Given the description of an element on the screen output the (x, y) to click on. 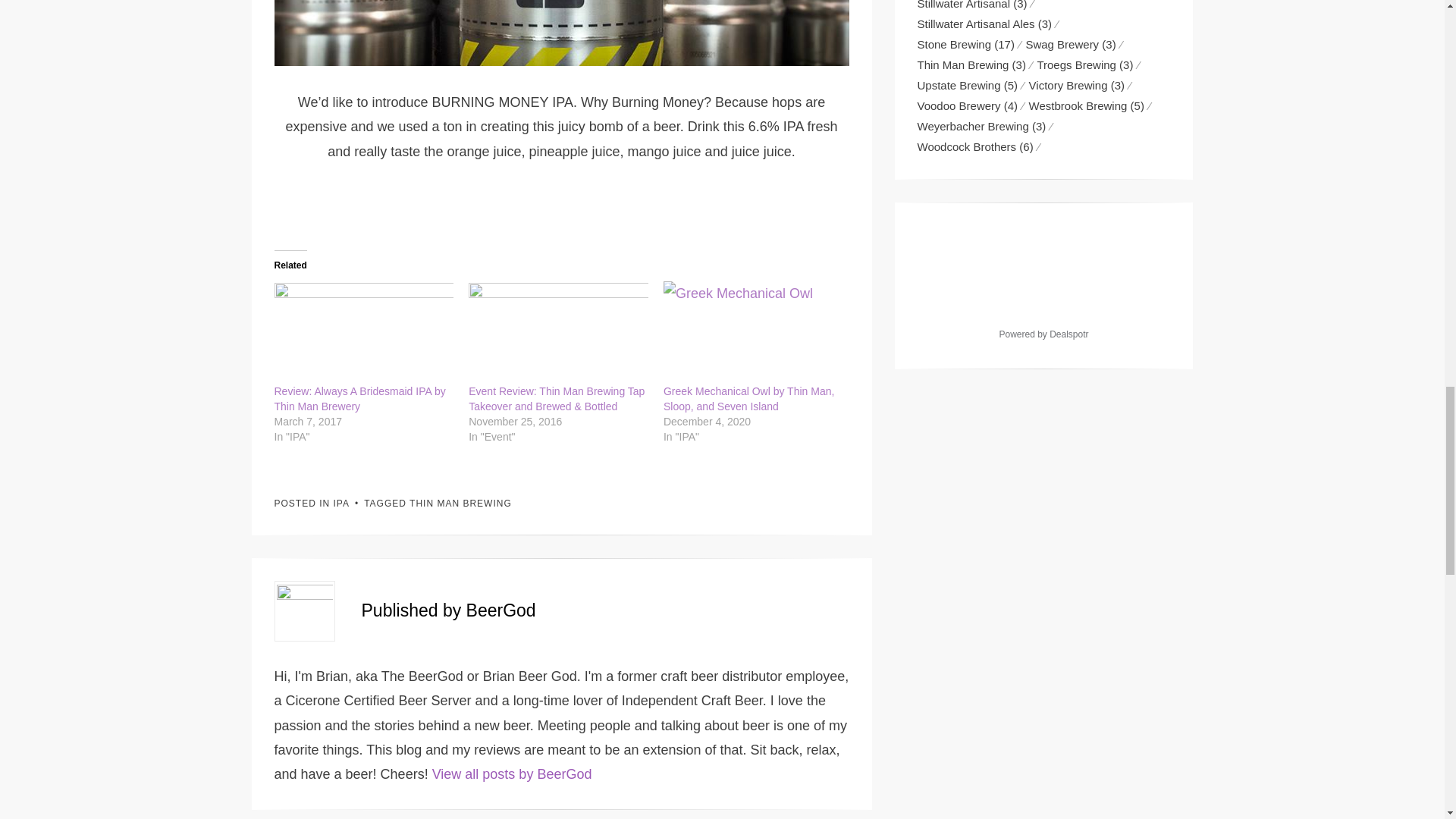
Review: Always A Bridesmaid IPA by Thin Man Brewery (364, 332)
Greek Mechanical Owl by Thin Man, Sloop, and Seven Island (748, 398)
Greek Mechanical Owl by Thin Man, Sloop, and Seven Island (753, 332)
Review: Always A Bridesmaid IPA by Thin Man Brewery (360, 398)
